Given the description of an element on the screen output the (x, y) to click on. 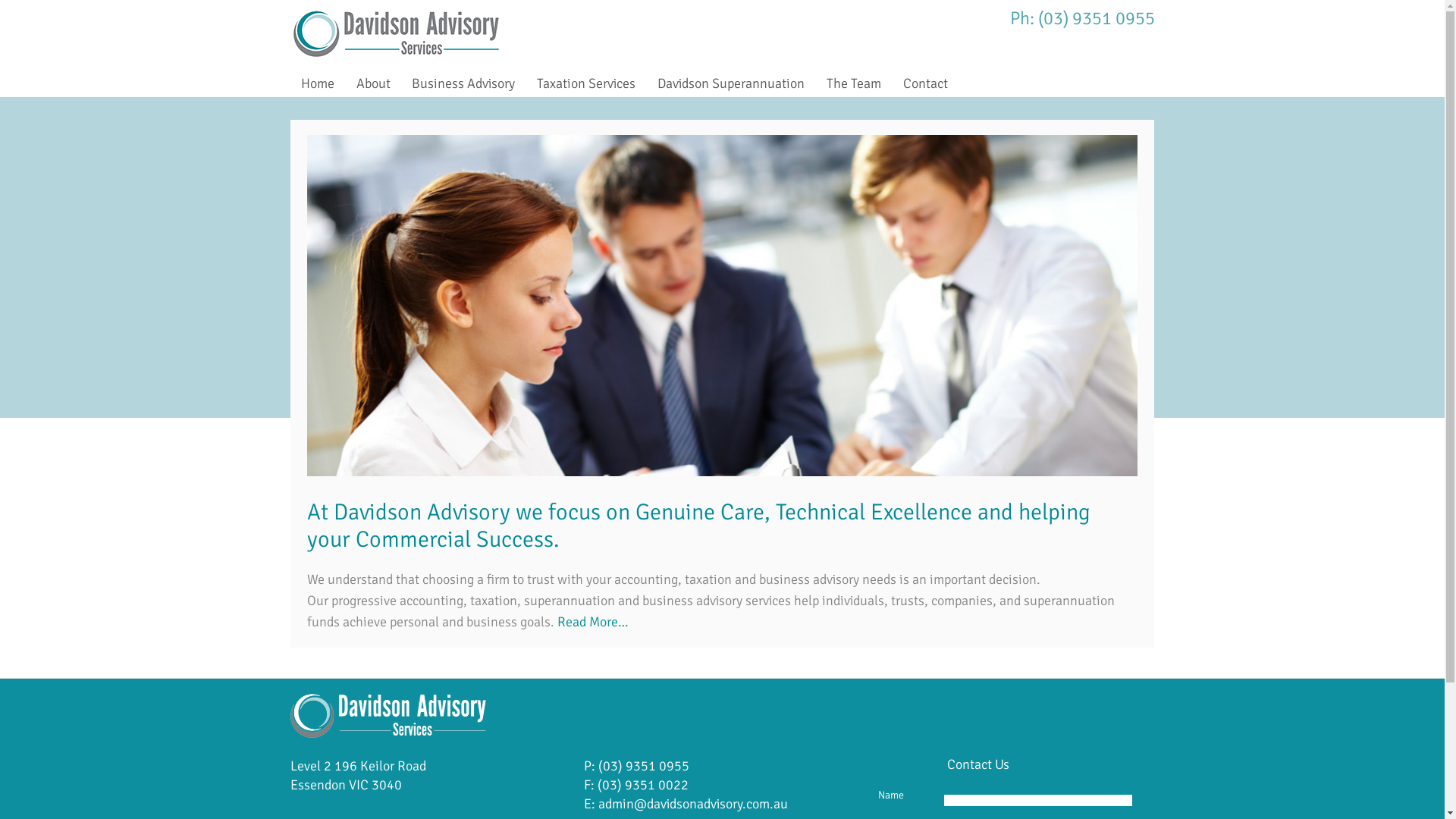
Business Advisory Element type: text (463, 83)
About Element type: text (373, 83)
Contact Element type: text (924, 83)
Davidson Superannuation Element type: text (730, 83)
The Team Element type: text (853, 83)
Home Element type: text (317, 83)
Taxation Services Element type: text (586, 83)
